Given the description of an element on the screen output the (x, y) to click on. 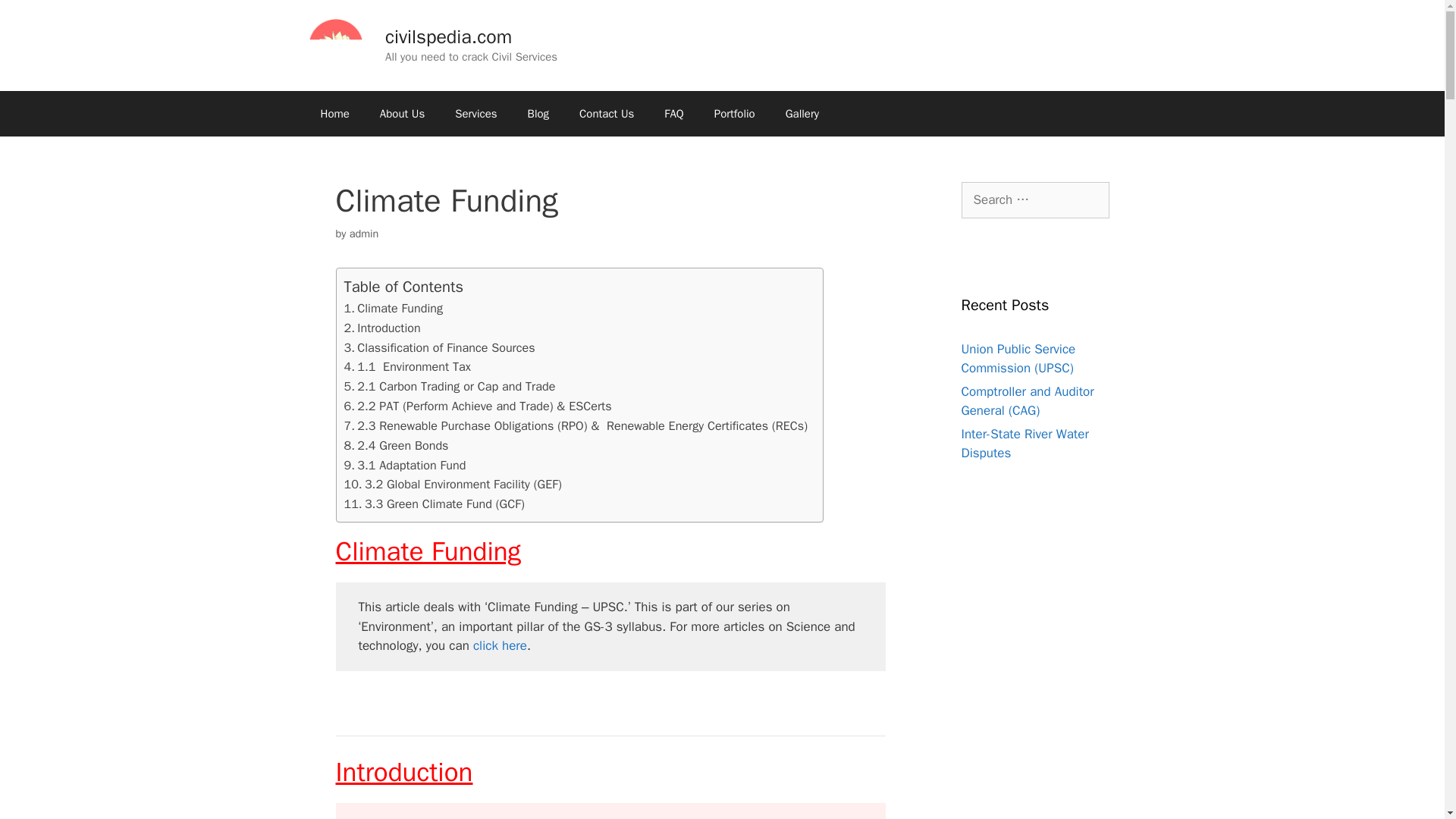
Classification of Finance Sources (445, 347)
Climate Funding (399, 308)
View all posts by admin (363, 233)
Blog (538, 113)
2.4 Green Bonds (402, 445)
Introduction (388, 327)
Inter-State River Water Disputes (1024, 443)
Contact Us (606, 113)
3.1 Adaptation Fund (410, 465)
Home (334, 113)
